Given the description of an element on the screen output the (x, y) to click on. 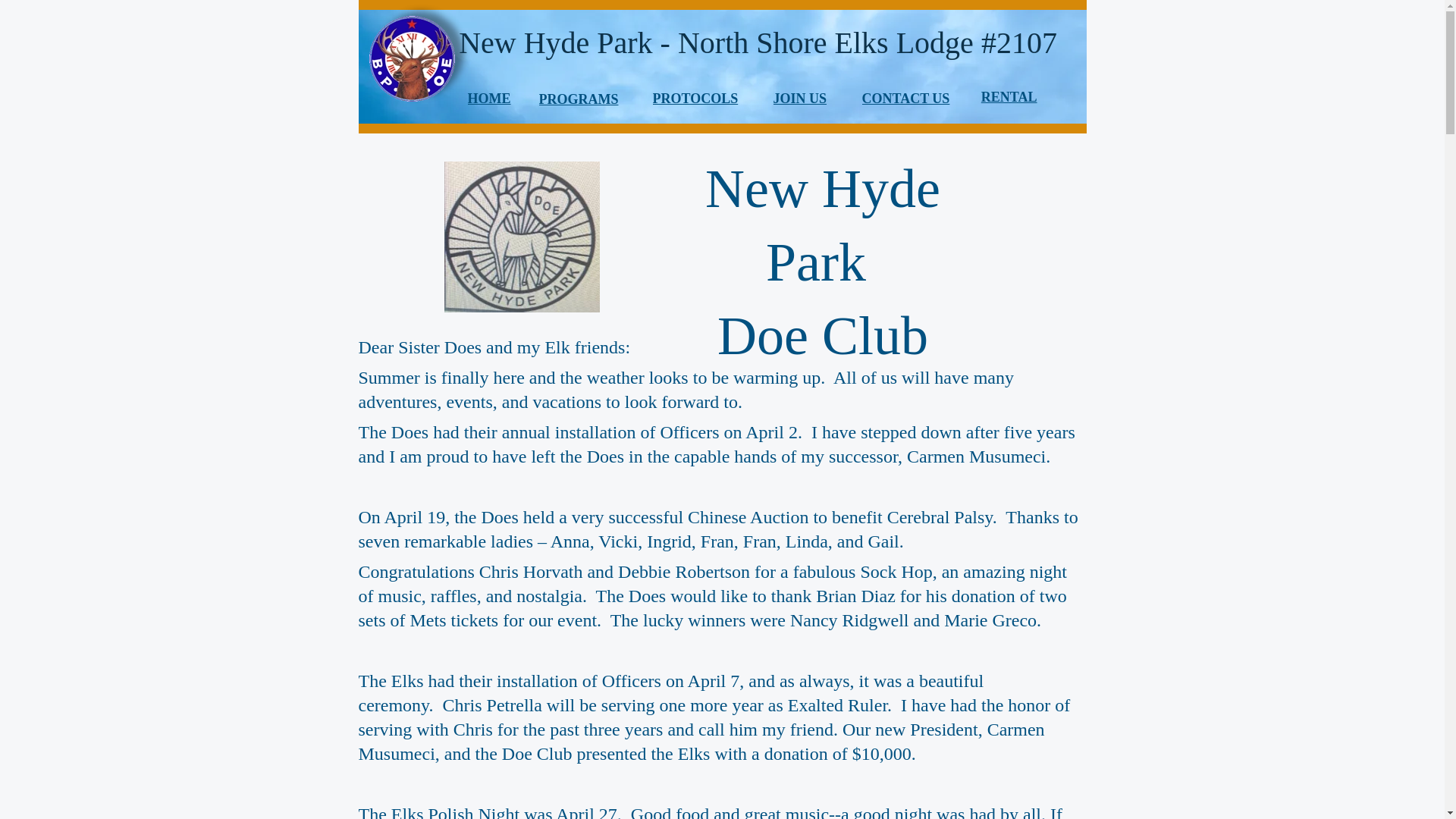
CONTACT US (905, 98)
PROGRAMS (577, 99)
HOME (489, 98)
JOIN US (800, 98)
PROTOCOLS (695, 98)
RENTALS (1008, 108)
